Given the description of an element on the screen output the (x, y) to click on. 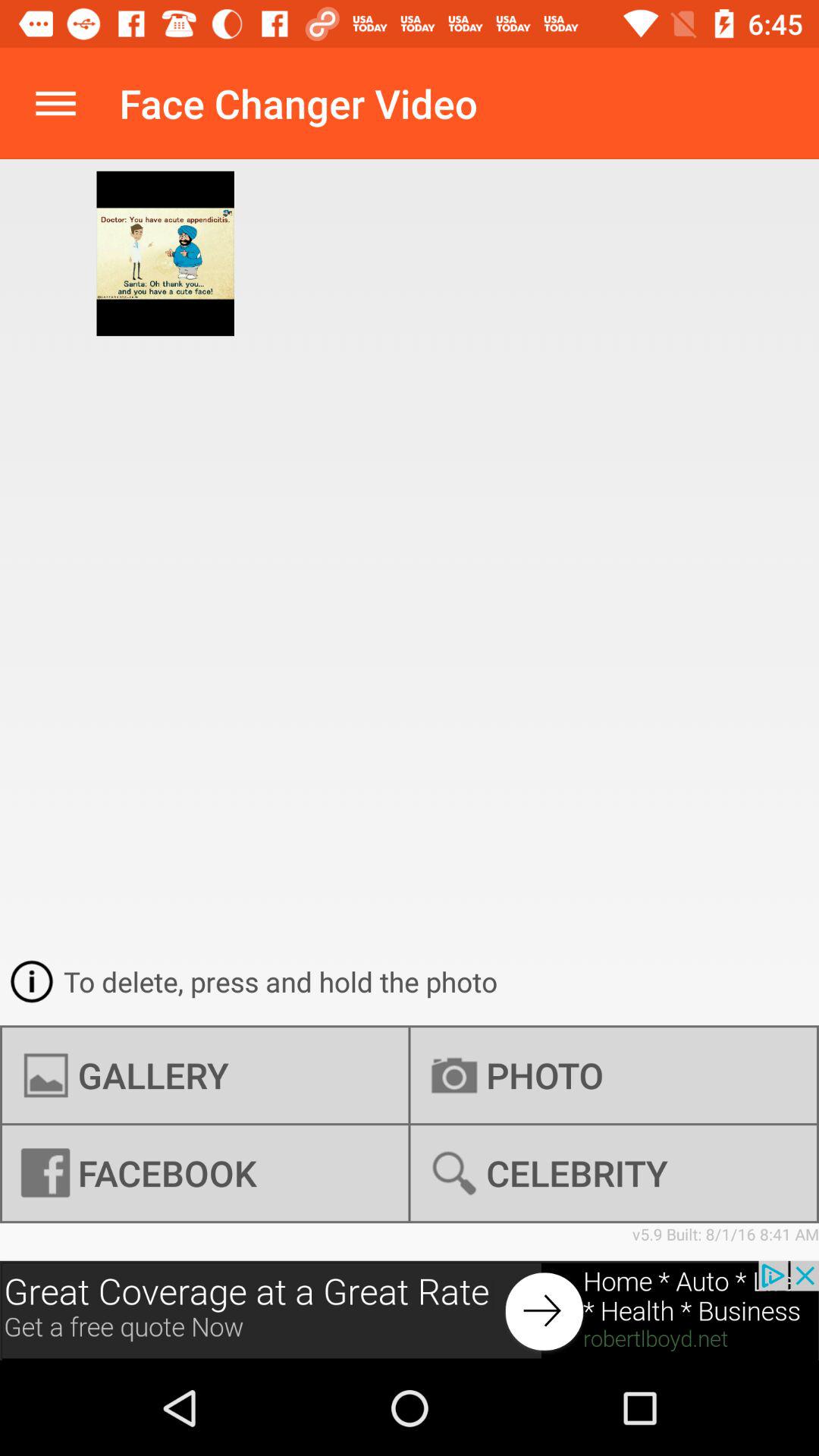
launch the gallery icon (205, 1075)
